Given the description of an element on the screen output the (x, y) to click on. 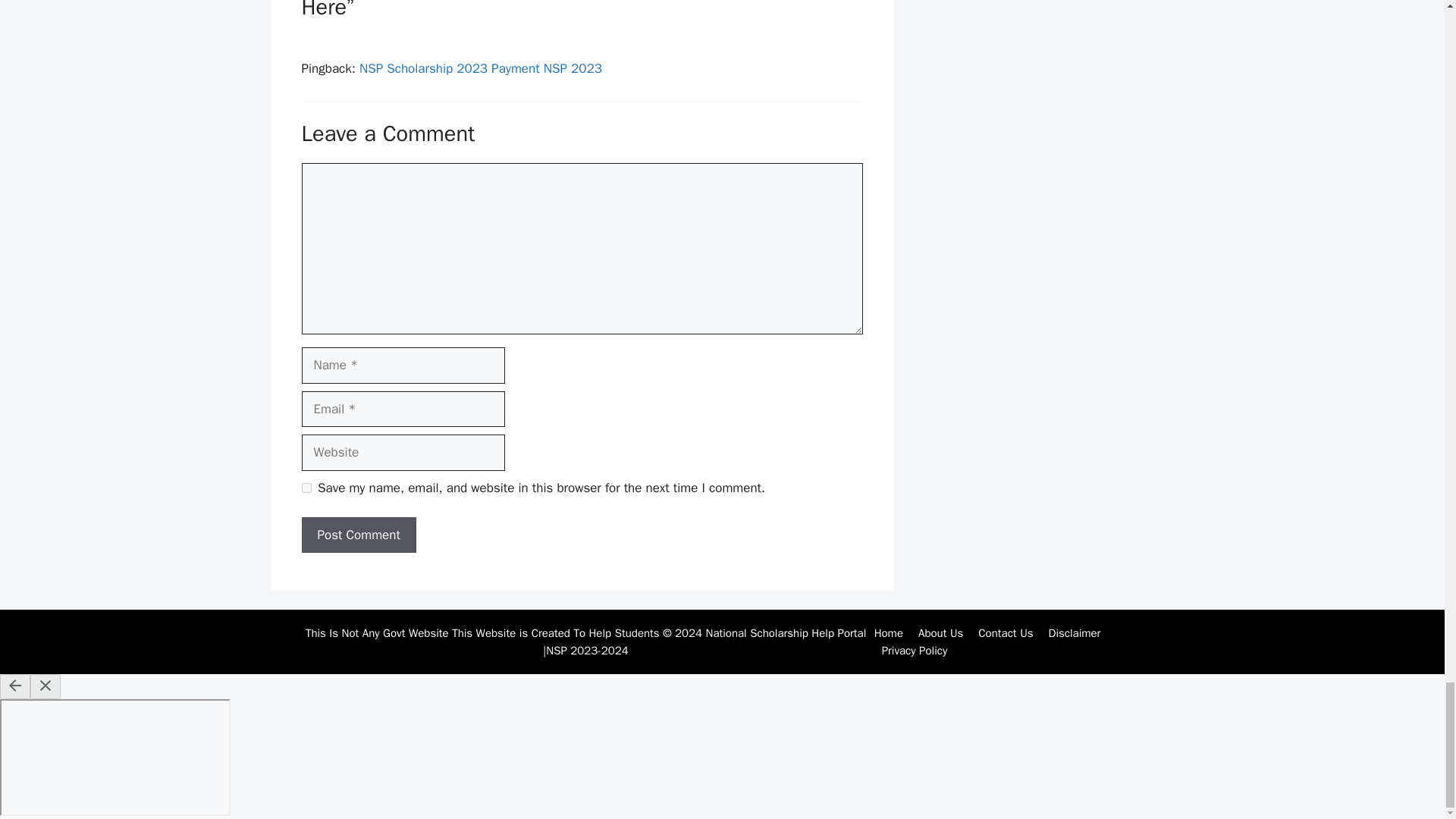
yes (306, 488)
NSP Scholarship 2023 Payment NSP 2023 (480, 68)
Post Comment (358, 534)
Post Comment (358, 534)
